Given the description of an element on the screen output the (x, y) to click on. 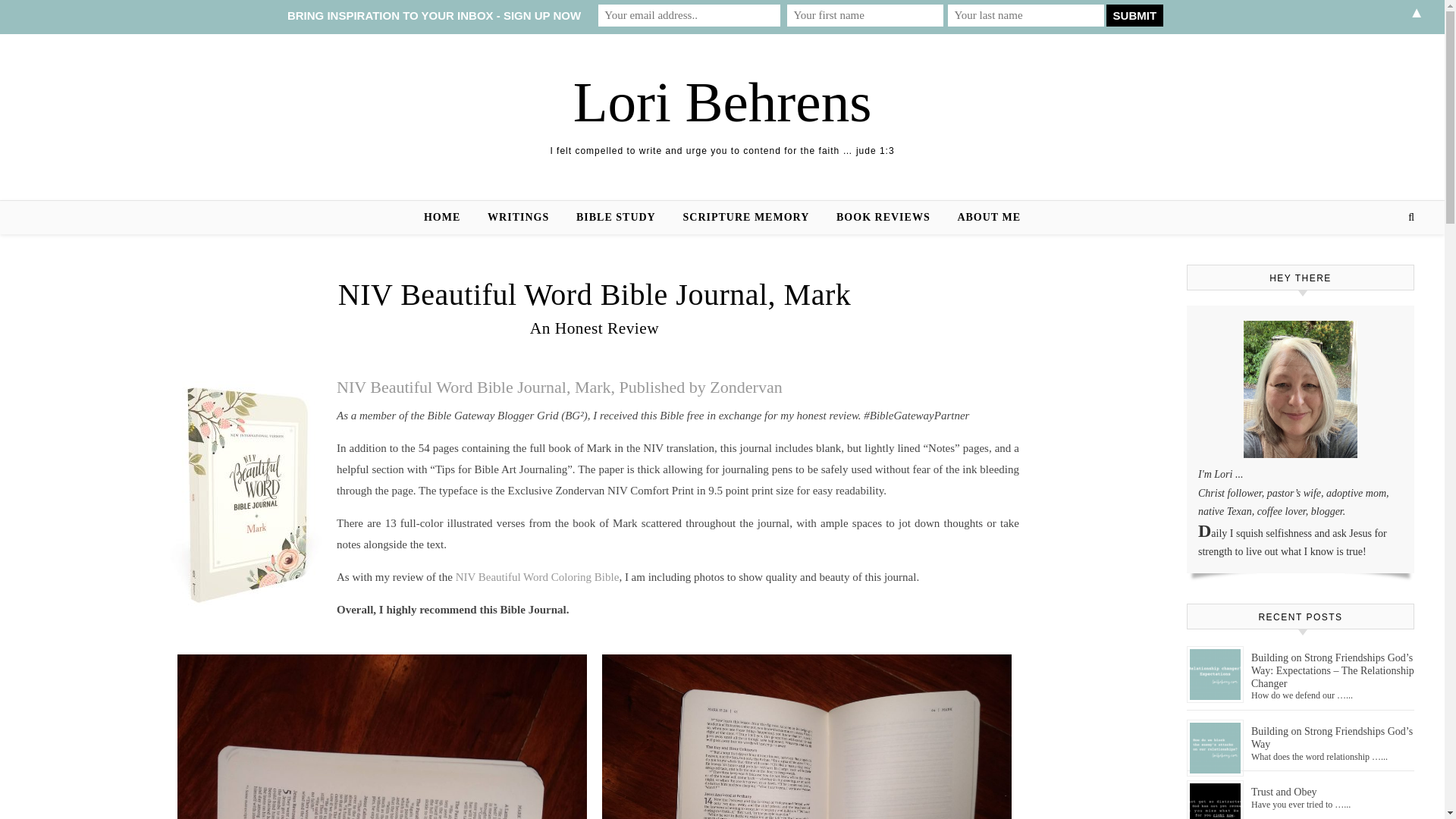
Trust and Obey (1283, 791)
SCRIPTURE MEMORY (745, 217)
Lori Behrens (722, 101)
WRITINGS (518, 217)
SUBMIT (1134, 15)
HOME (447, 217)
SUBMIT (1134, 15)
BOOK REVIEWS (883, 217)
NIV Beautiful Word Coloring Bible (537, 576)
ABOUT ME (982, 217)
BIBLE STUDY (616, 217)
